Given the description of an element on the screen output the (x, y) to click on. 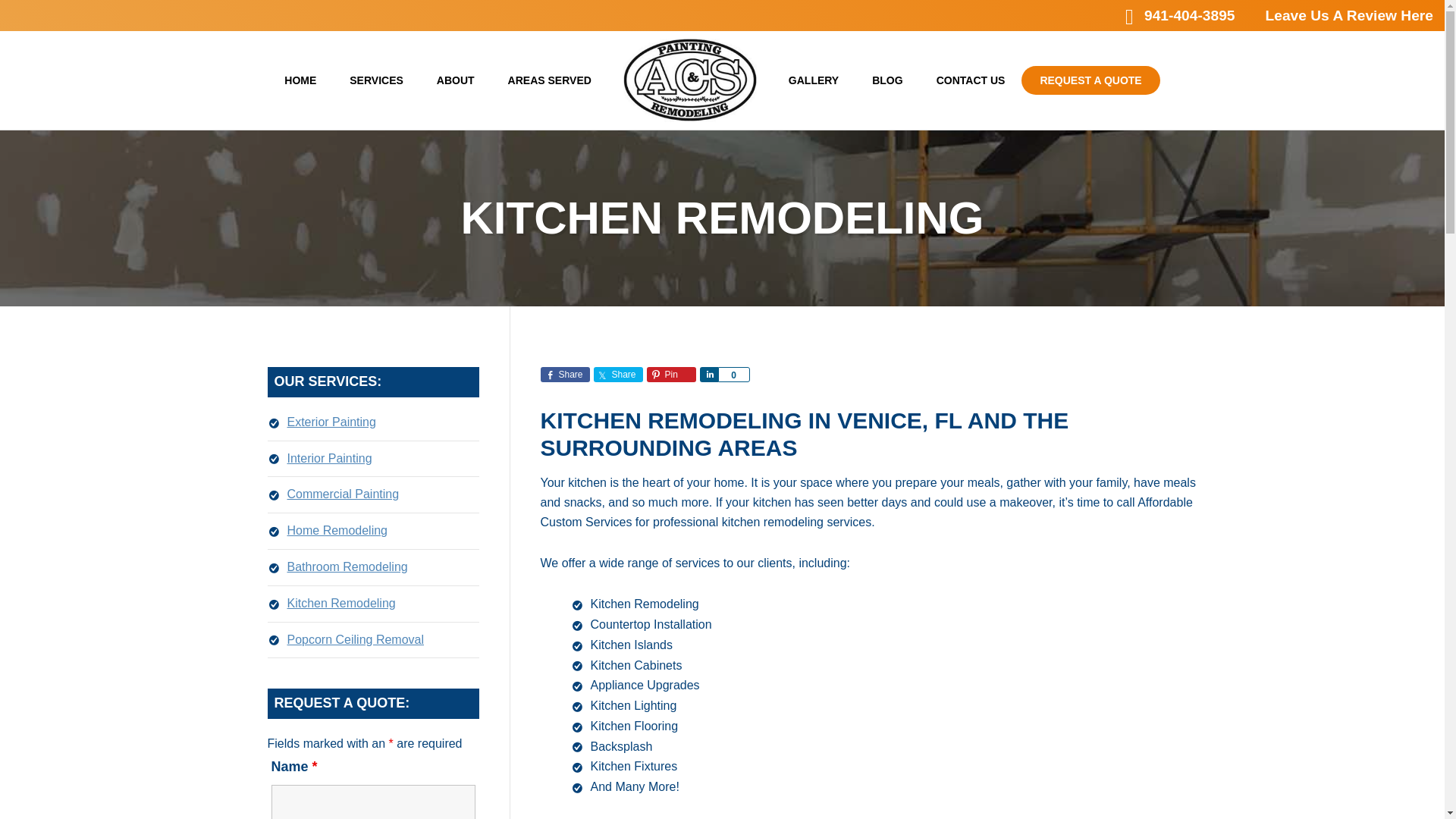
CONTACT US (971, 80)
Leave Us A Review Here (1348, 15)
Home Remodeling (336, 530)
Pin (670, 374)
AREAS SERVED (550, 80)
Share (707, 374)
GALLERY (813, 80)
BLOG (887, 80)
Kitchen Remodeling (340, 603)
Exterior Painting (330, 421)
SERVICES (376, 80)
ABOUT (456, 80)
Bathroom Remodeling (346, 566)
Popcorn Ceiling Removal (354, 638)
Share (564, 374)
